Given the description of an element on the screen output the (x, y) to click on. 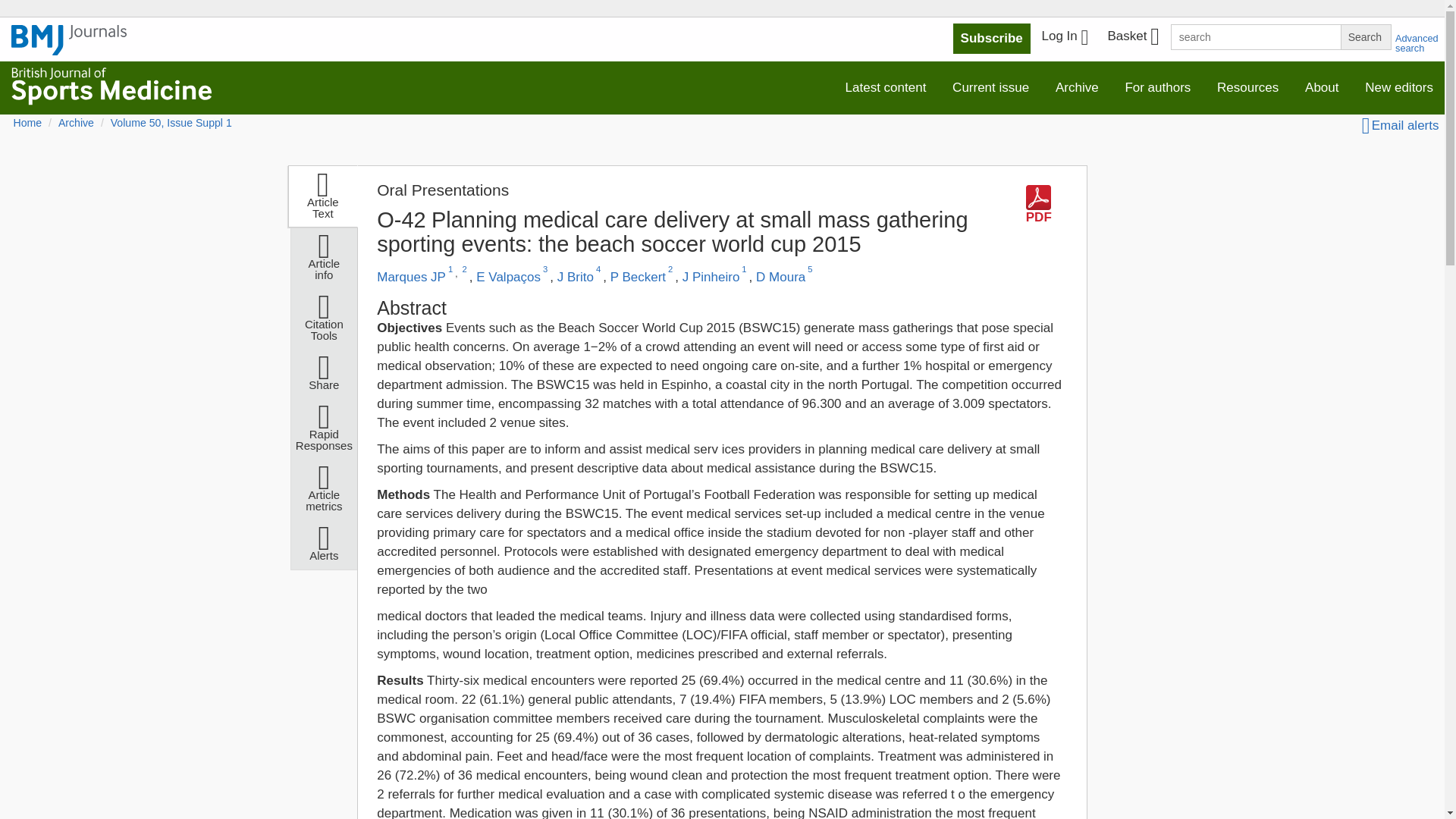
Archive (1076, 87)
Resources (1247, 87)
BMJ Journals (68, 40)
Current issue (990, 87)
Search (1364, 36)
BMJ Journals (68, 47)
Basket (1132, 38)
Log In (1064, 38)
About (1321, 87)
Search (1364, 36)
Subscribe (991, 38)
For authors (1157, 87)
Latest content (885, 87)
Advanced search (1416, 43)
